Given the description of an element on the screen output the (x, y) to click on. 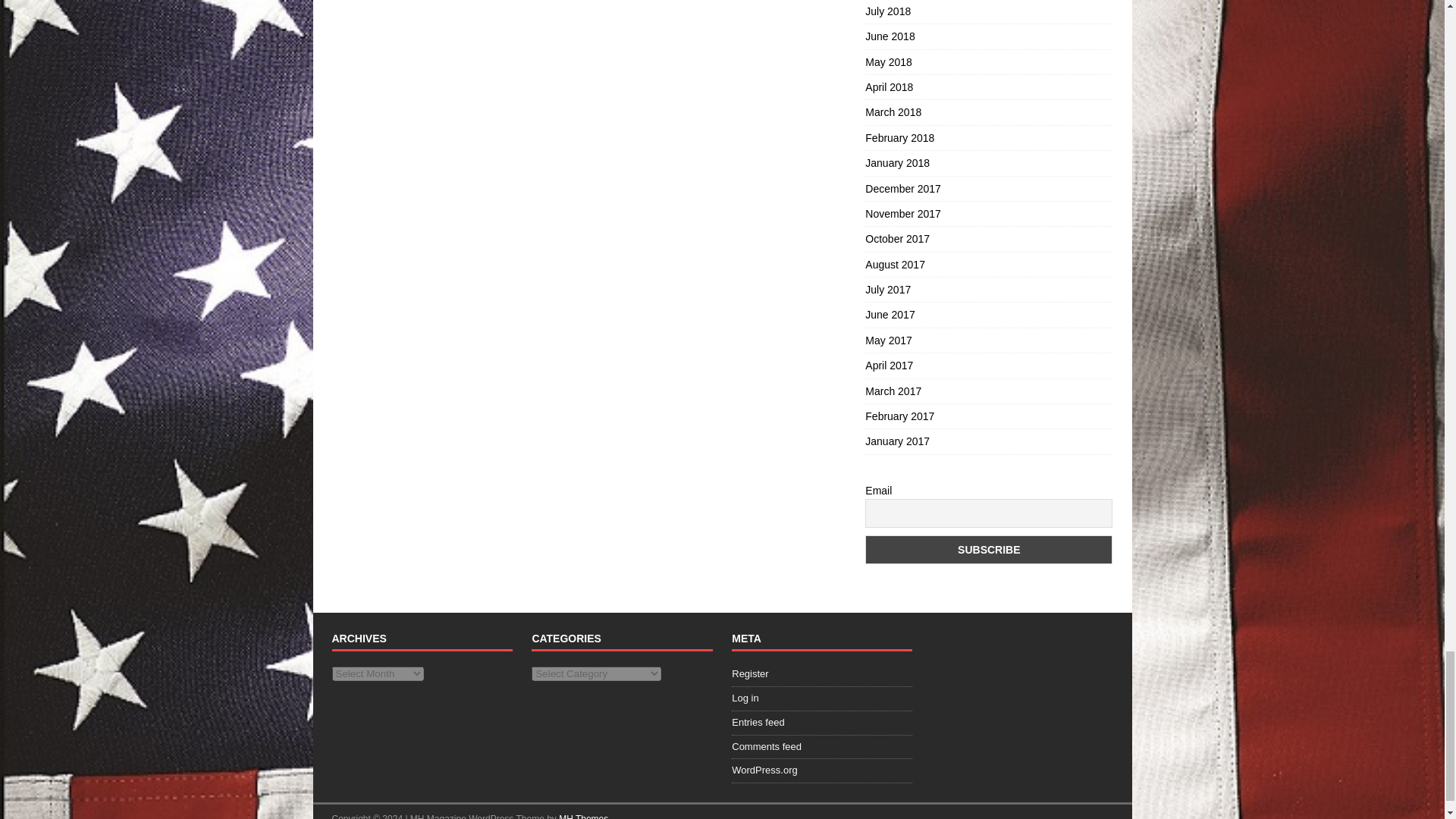
Subscribe (988, 549)
